Given the description of an element on the screen output the (x, y) to click on. 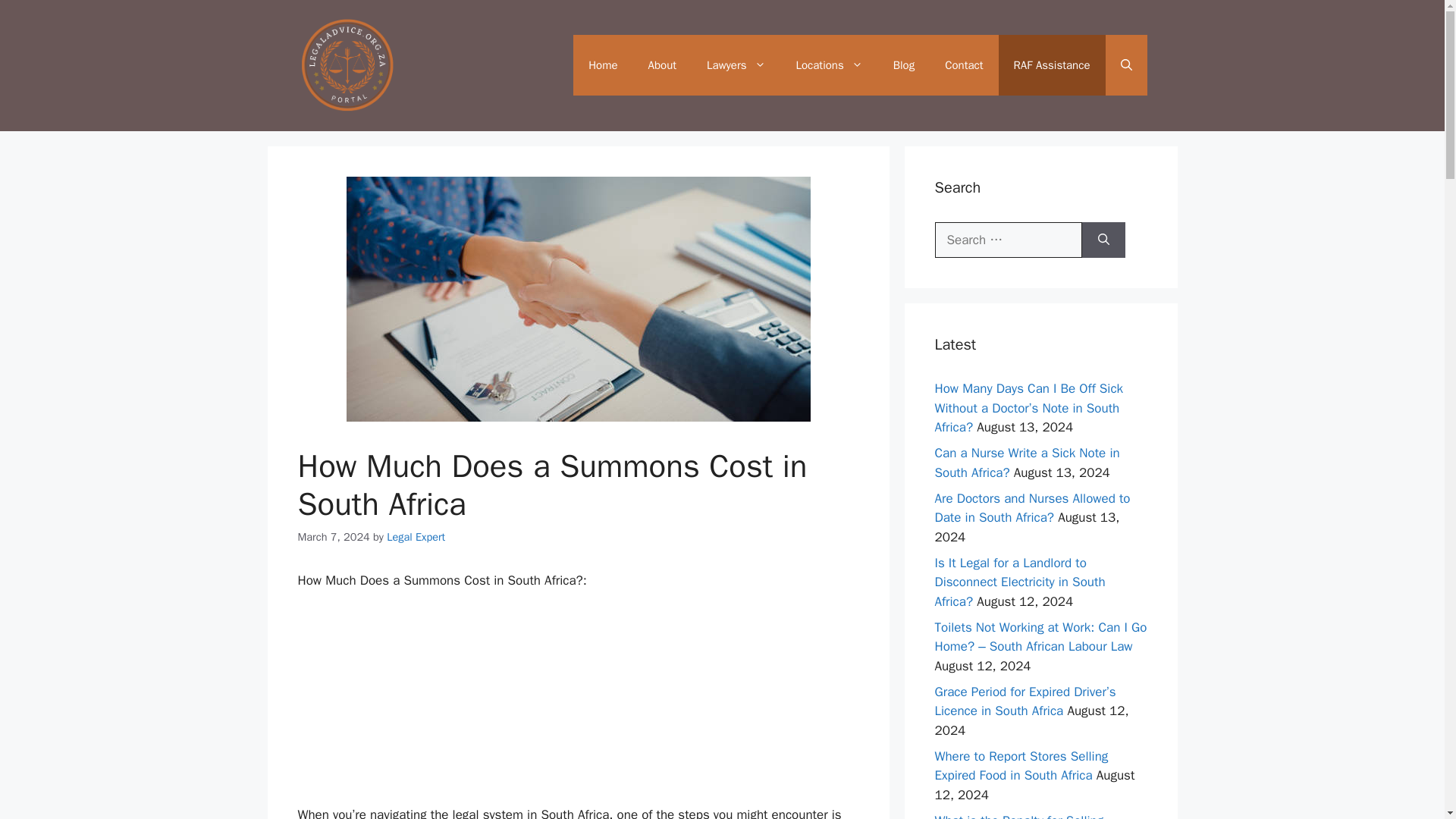
Home (602, 64)
Blog (903, 64)
Search for: (1007, 239)
Lawyers (735, 64)
Contact (963, 64)
Locations (828, 64)
About (662, 64)
View all posts by Legal Expert (416, 536)
RAF Assistance (1051, 65)
Advertisement (577, 704)
